Given the description of an element on the screen output the (x, y) to click on. 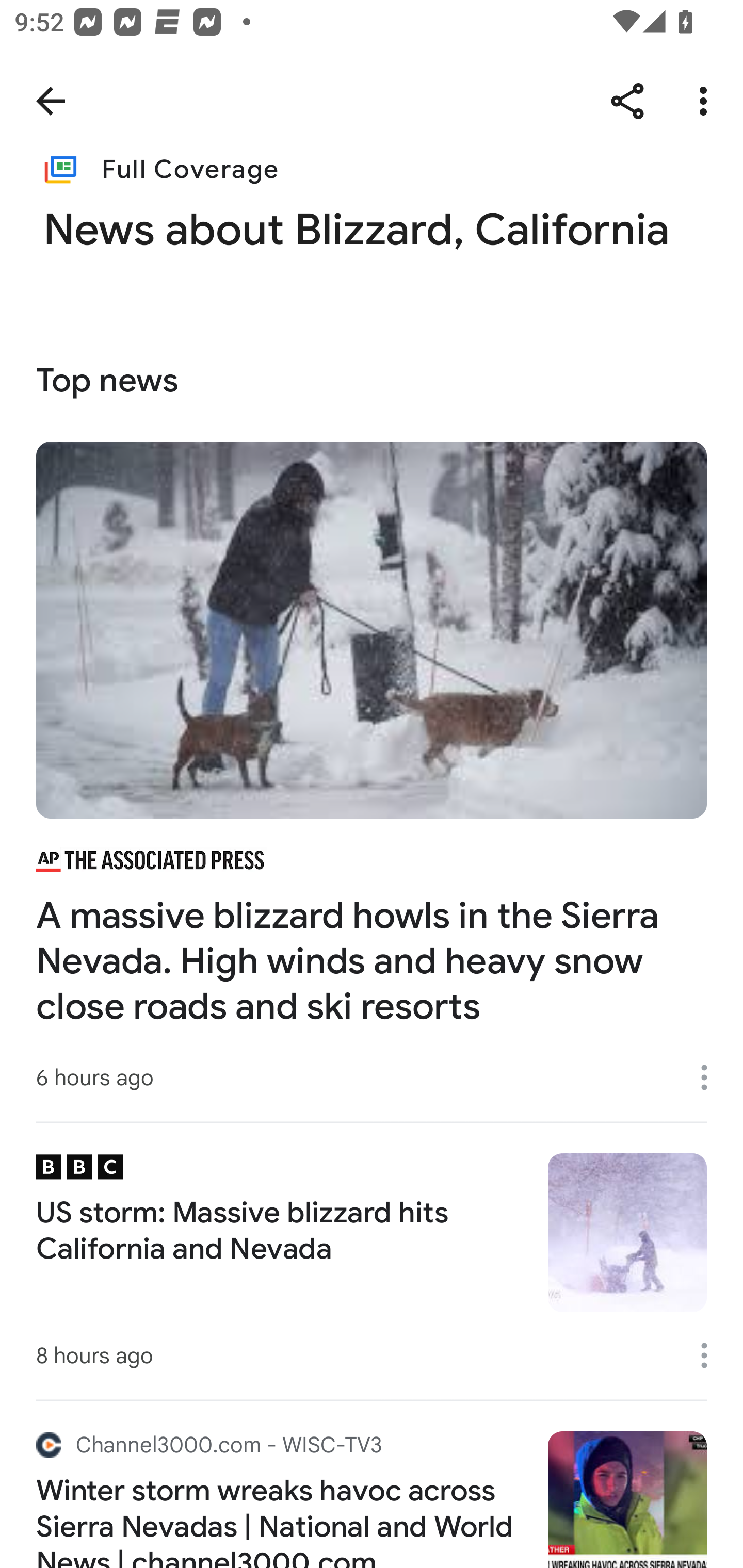
Navigate up (50, 101)
Share (626, 101)
More options (706, 101)
More options (711, 1077)
More options (711, 1355)
